Given the description of an element on the screen output the (x, y) to click on. 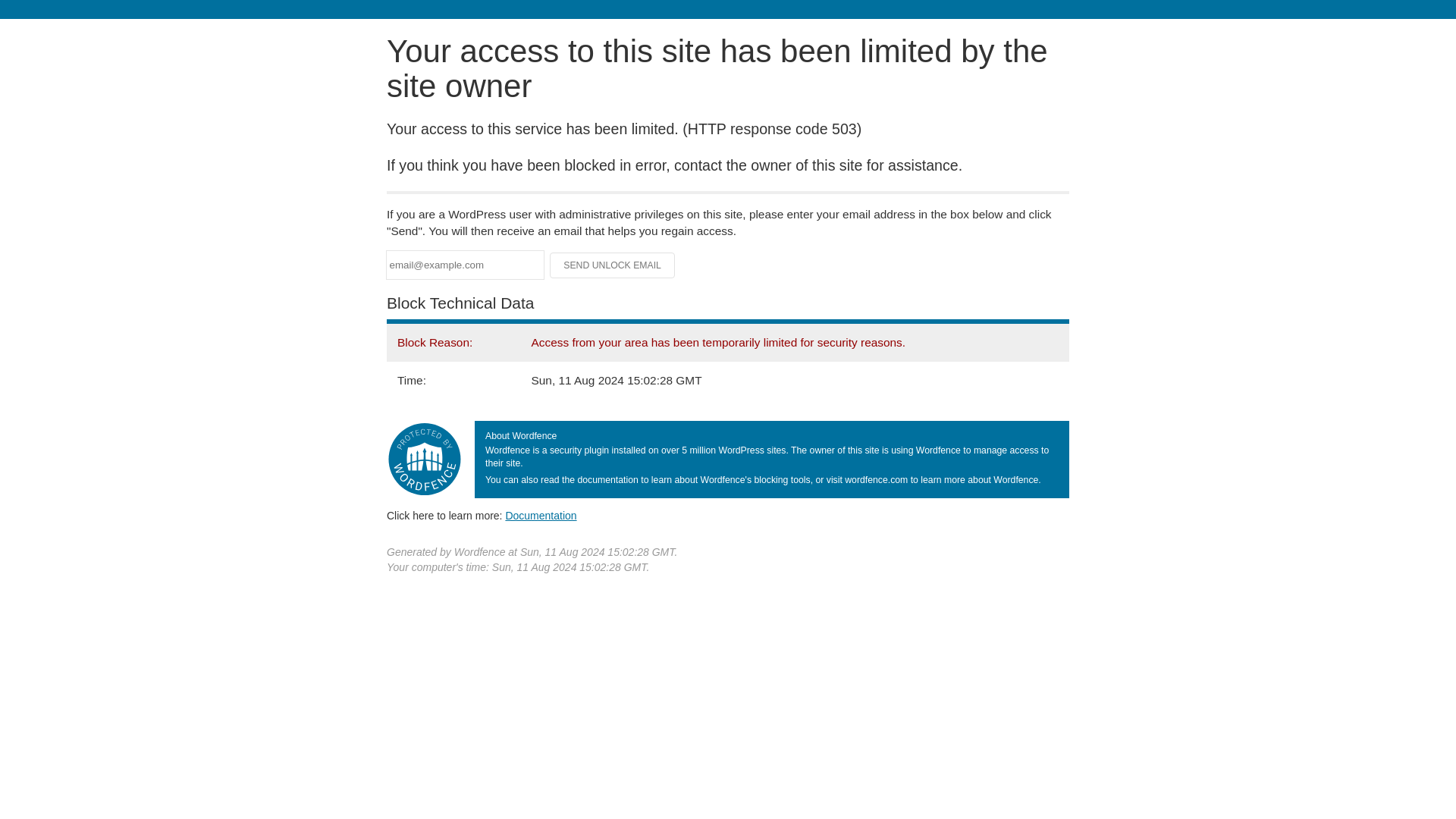
Send Unlock Email (612, 265)
Send Unlock Email (612, 265)
Documentation (540, 515)
